Given the description of an element on the screen output the (x, y) to click on. 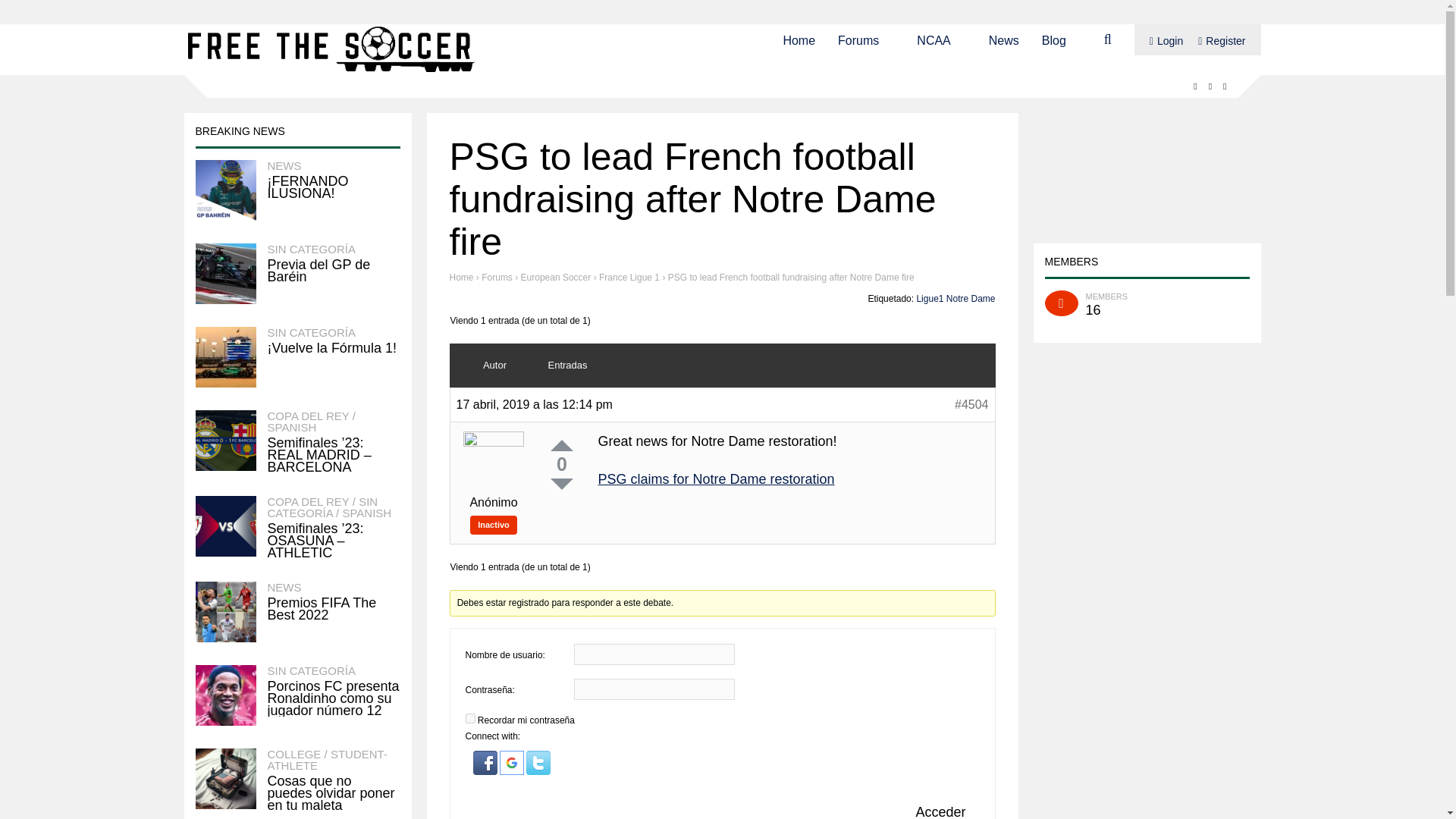
Connect with Twitter (537, 771)
free the soccer (333, 71)
Home (799, 39)
Connect with Facebook (486, 771)
Forums (858, 39)
Connect with Google (512, 771)
NCAA (933, 39)
forever (470, 718)
News (1003, 39)
